Given the description of an element on the screen output the (x, y) to click on. 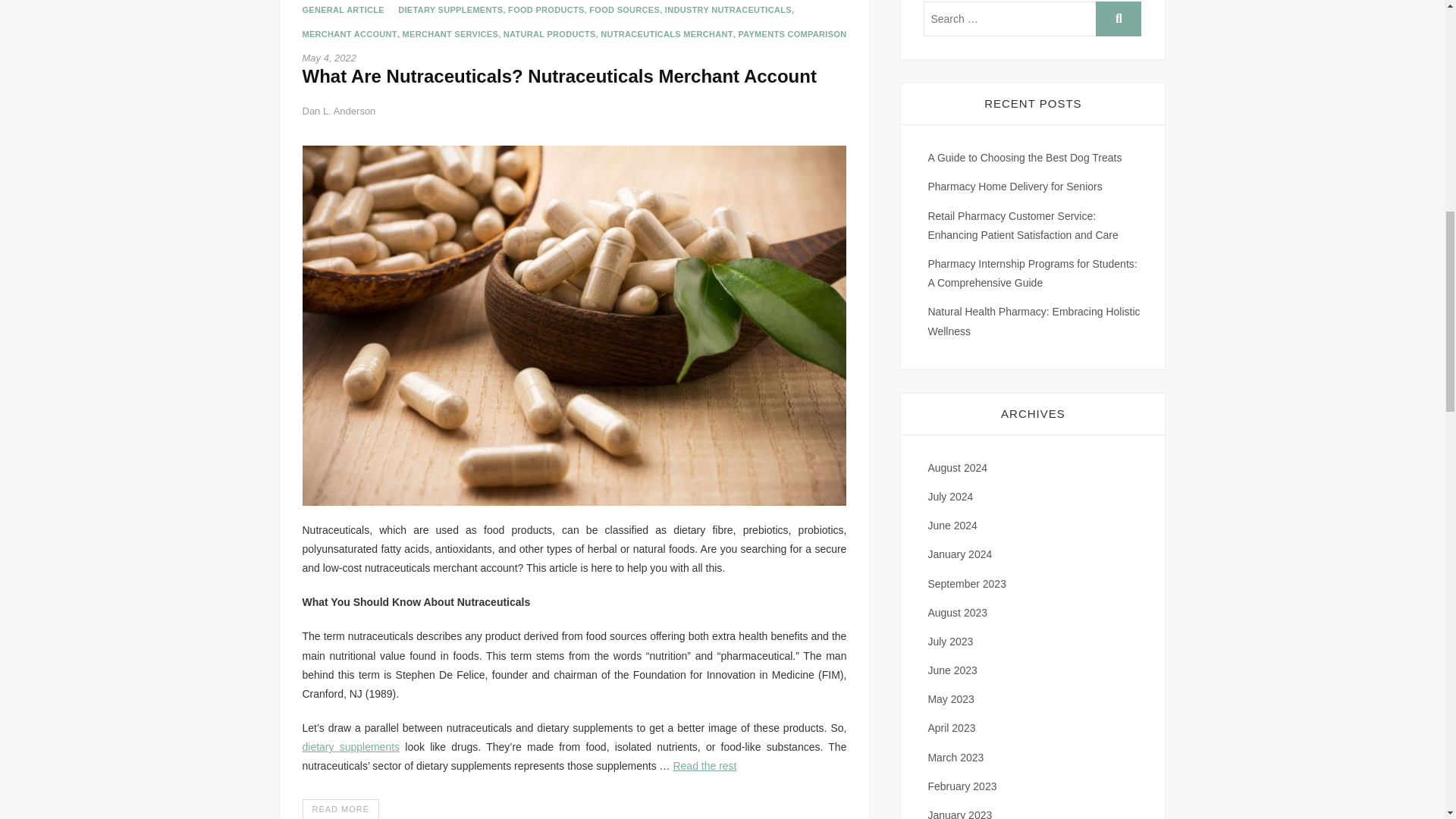
What Are Nutraceuticals? Nutraceuticals Merchant Account (338, 111)
FOOD SOURCES (624, 13)
NATURAL PRODUCTS (549, 37)
DIETARY SUPPLEMENTS (449, 13)
May 4, 2022 (328, 57)
What Are Nutraceuticals? Nutraceuticals Merchant Account (339, 809)
MERCHANT ACCOUNT (348, 37)
MERCHANT SERVICES (451, 37)
What Are Nutraceuticals? Nutraceuticals Merchant Account (558, 76)
INDUSTRY NUTRACEUTICALS (728, 13)
